Given the description of an element on the screen output the (x, y) to click on. 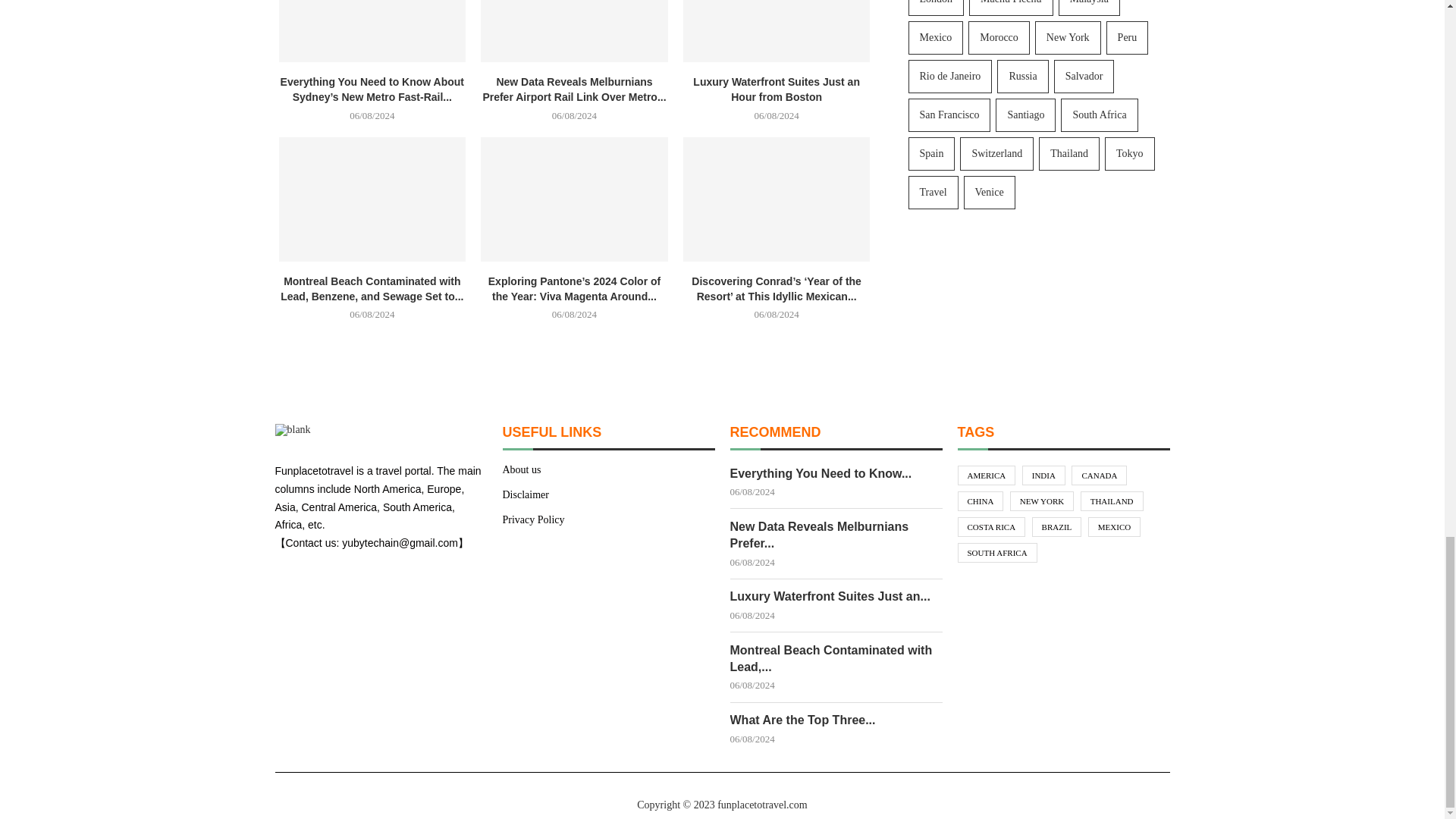
Luxury Waterfront Suites Just an Hour from Boston (776, 31)
